Given the description of an element on the screen output the (x, y) to click on. 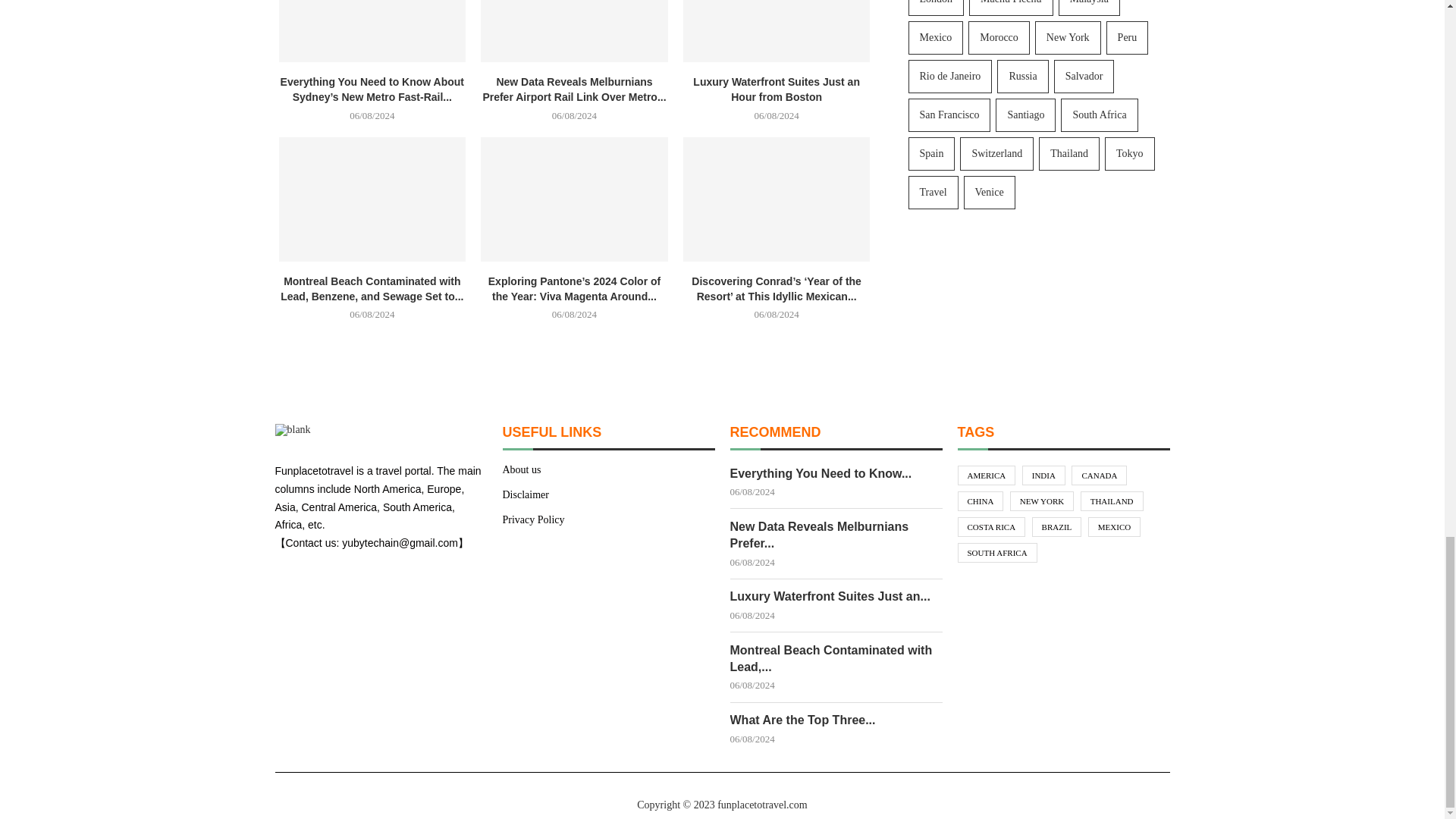
Luxury Waterfront Suites Just an Hour from Boston (776, 31)
